Given the description of an element on the screen output the (x, y) to click on. 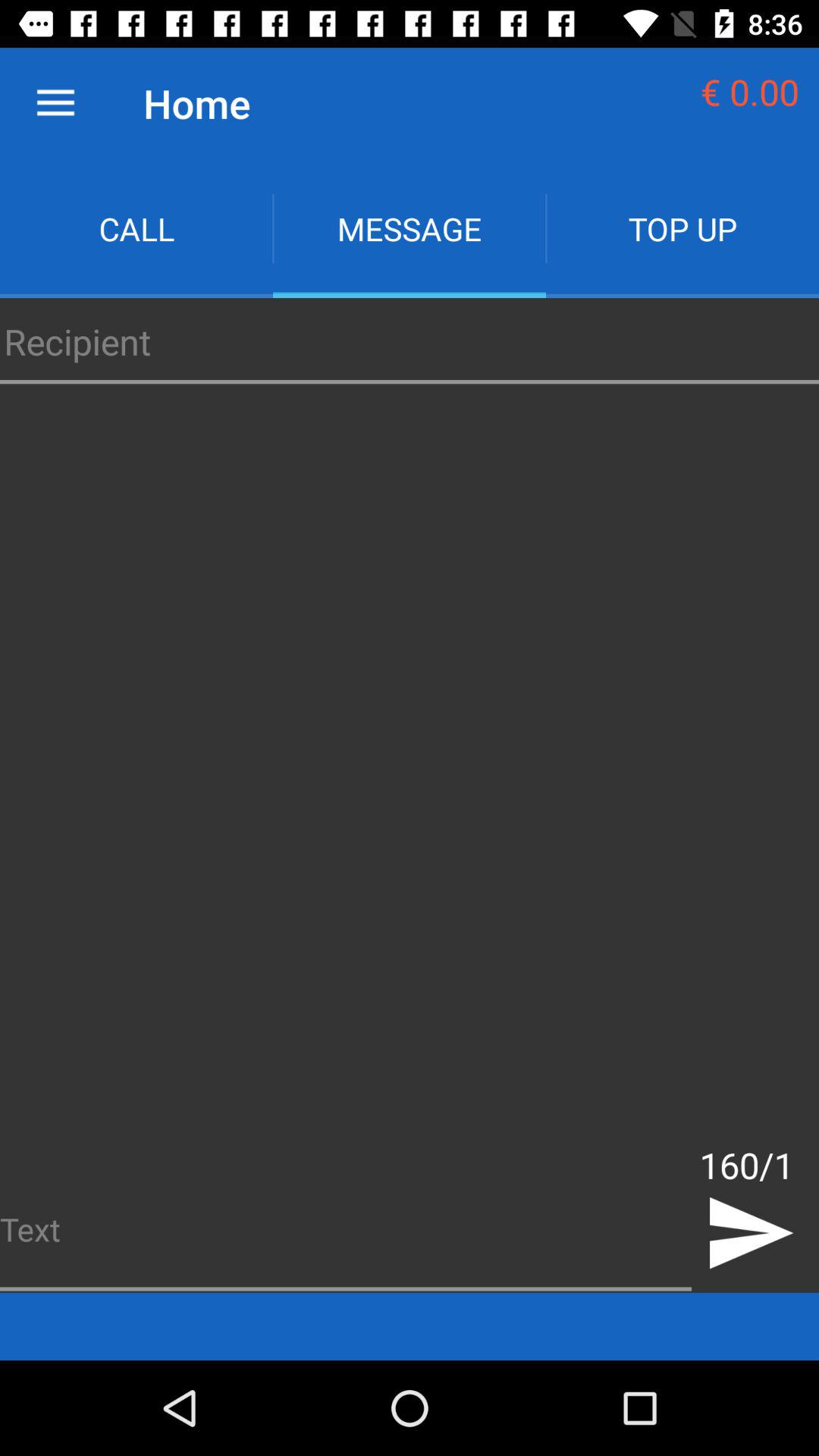
open message icon (409, 228)
